Given the description of an element on the screen output the (x, y) to click on. 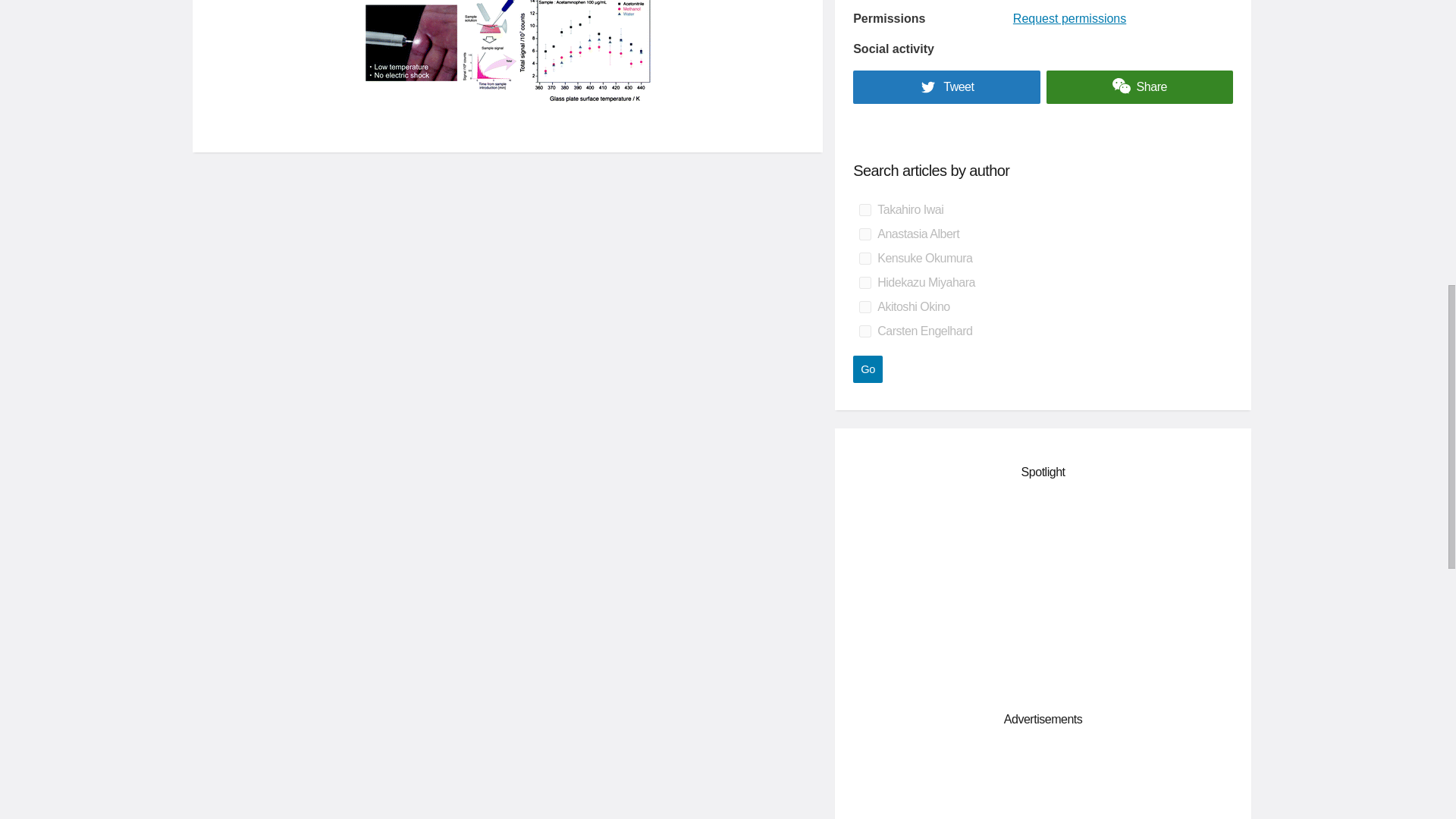
on (864, 331)
on (864, 282)
Request permissions (1068, 18)
3rd party ad content (1043, 782)
Go (867, 369)
on (864, 258)
on (864, 209)
3rd party ad content (1043, 592)
Go (867, 369)
on (864, 234)
